Given the description of an element on the screen output the (x, y) to click on. 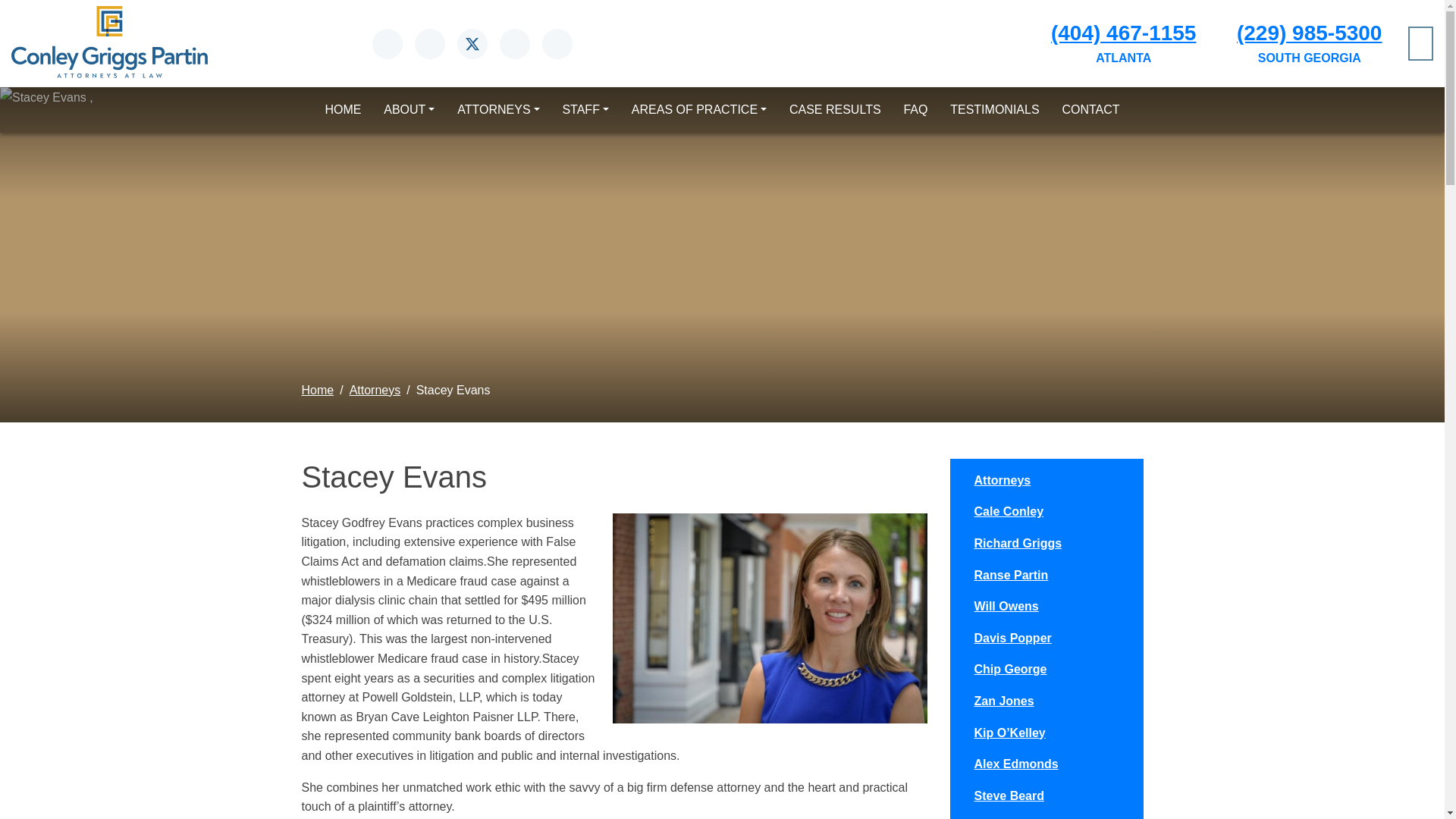
Switch to high color contrast version of the website (1419, 43)
ATTORNEYS (497, 109)
HOME (342, 109)
SKIP TO MAIN CONTENT (12, 6)
STAFF (585, 109)
ABOUT (409, 109)
